Given the description of an element on the screen output the (x, y) to click on. 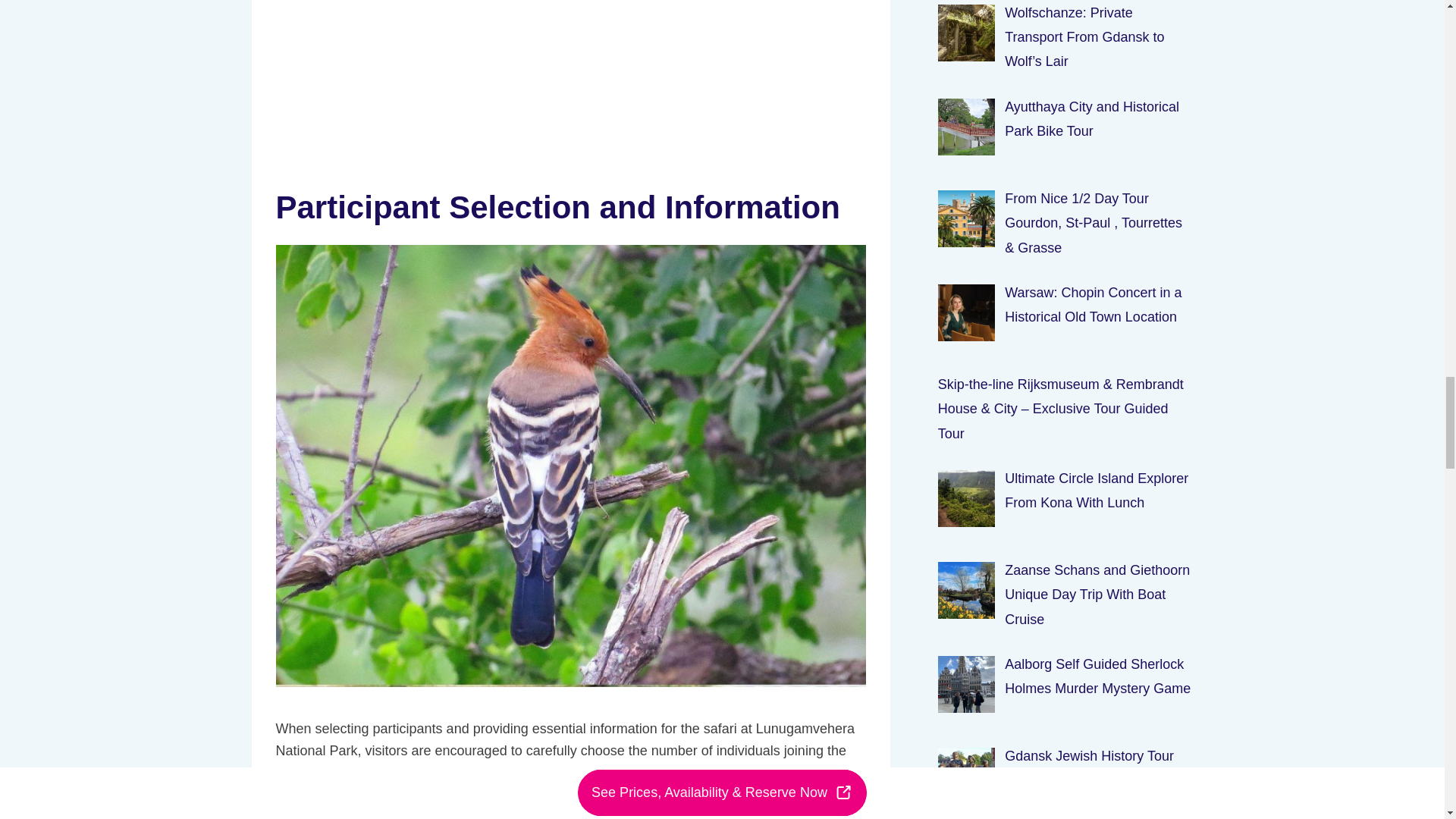
GetYourGuide Widget (571, 82)
